Given the description of an element on the screen output the (x, y) to click on. 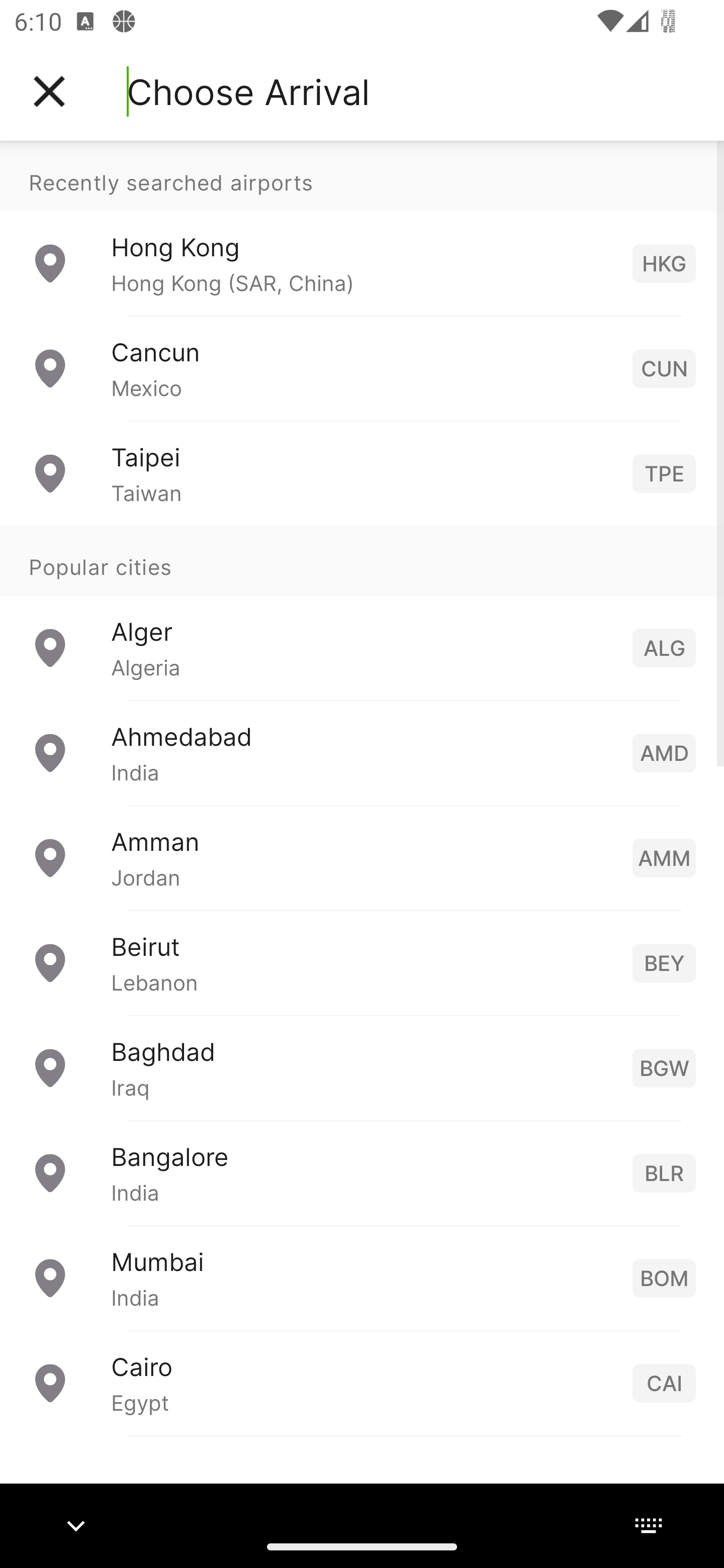
Choose Arrival (247, 91)
Recently searched airports (362, 176)
Cancun Mexico CUN (362, 367)
Taipei Taiwan TPE (362, 472)
Popular cities Alger Algeria ALG (362, 612)
Popular cities (362, 560)
Ahmedabad India AMD (362, 751)
Amman Jordan AMM (362, 856)
Beirut Lebanon BEY (362, 961)
Baghdad Iraq BGW (362, 1066)
Bangalore India BLR (362, 1171)
Mumbai India BOM (362, 1276)
Cairo Egypt CAI (362, 1381)
